Given the description of an element on the screen output the (x, y) to click on. 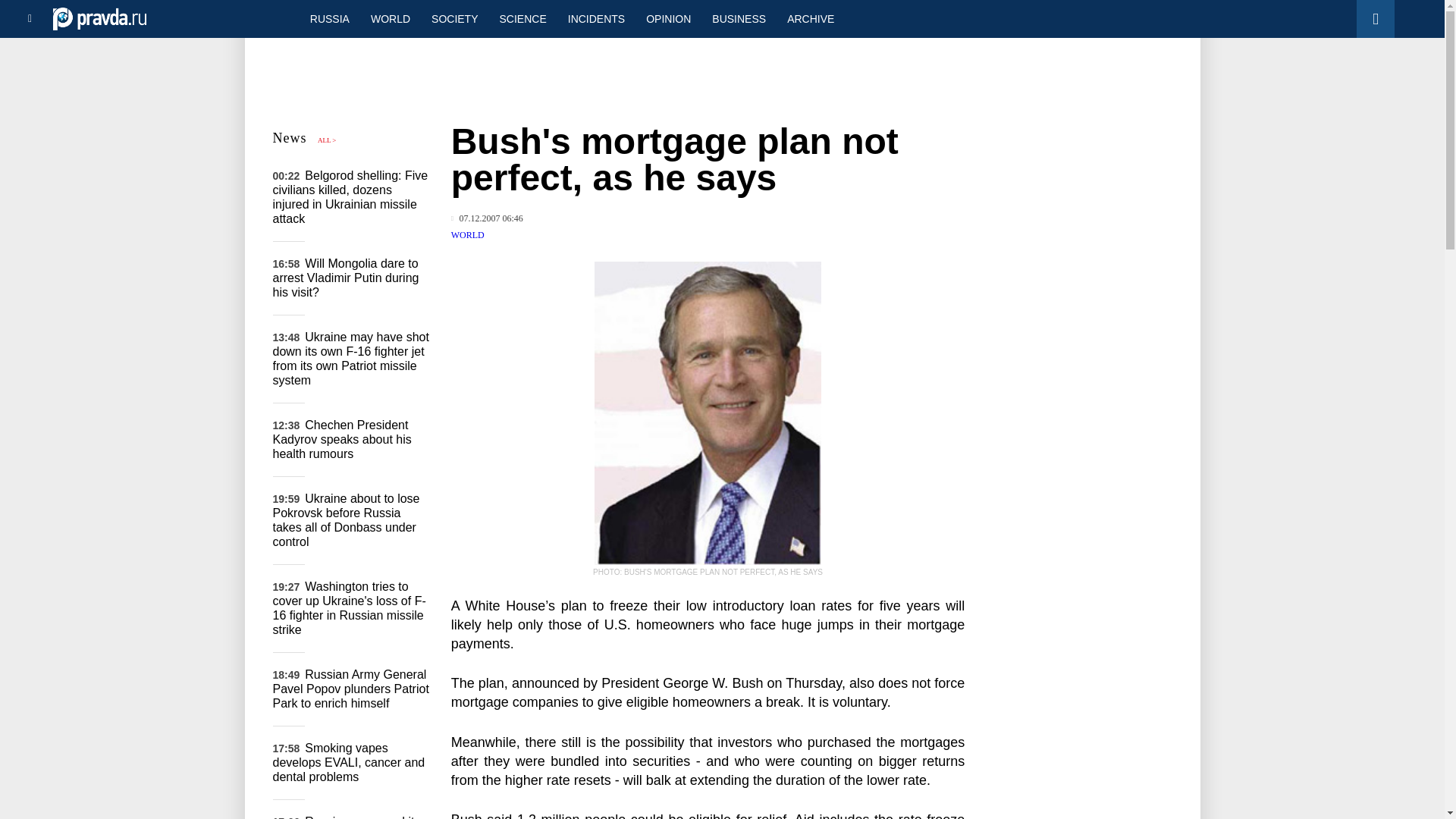
SCIENCE (523, 18)
Smoking vapes develops EVALI, cancer and dental problems (349, 762)
RUSSIA (329, 18)
INCIDENTS (595, 18)
BUSINESS (738, 18)
WORLD (467, 235)
